Given the description of an element on the screen output the (x, y) to click on. 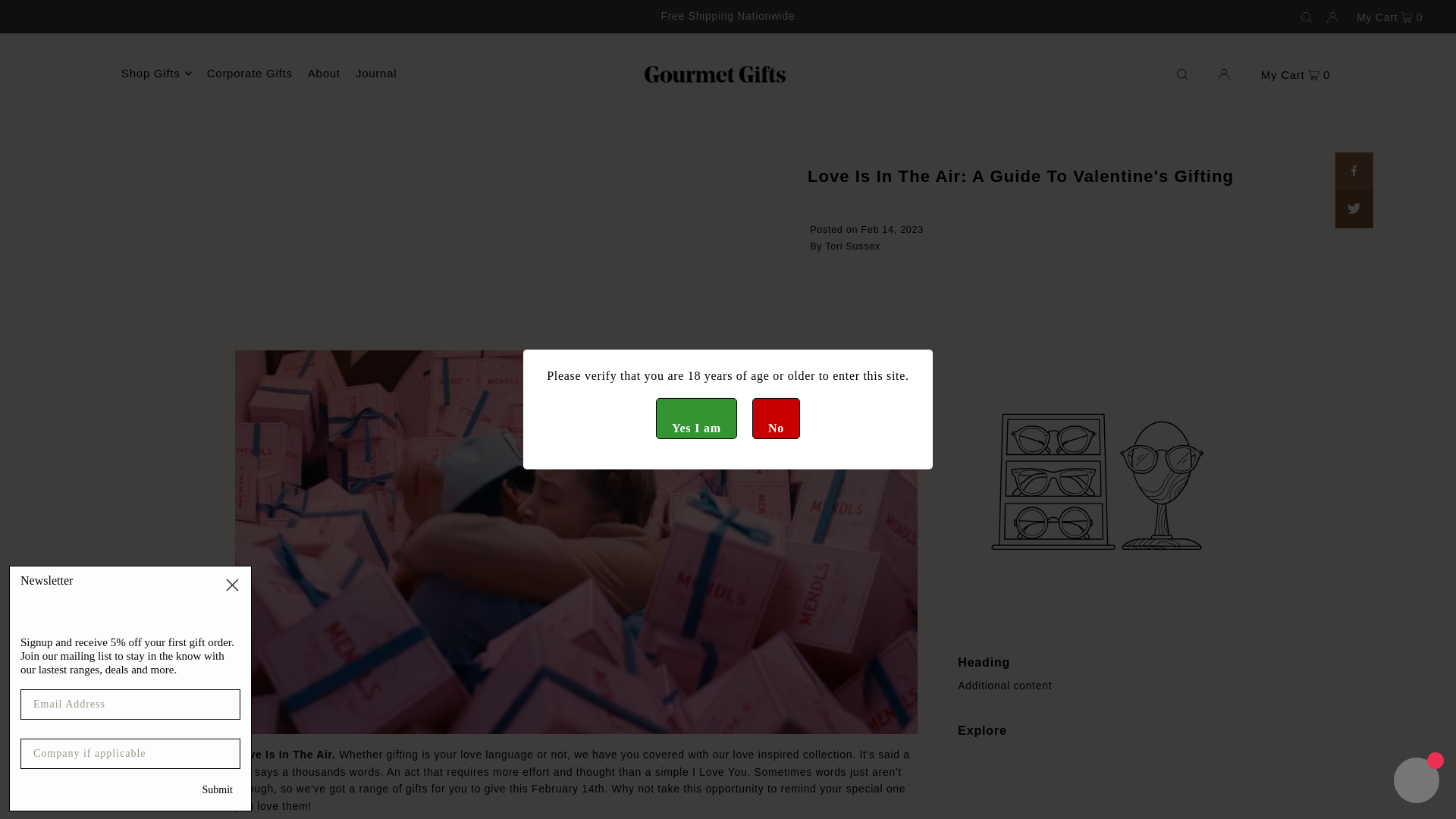
Share on Twitter (1354, 209)
Shop Gifts (156, 73)
Share on Facebook (1354, 171)
Shopify online store chat (1416, 781)
Close dialog 1 (232, 584)
